Given the description of an element on the screen output the (x, y) to click on. 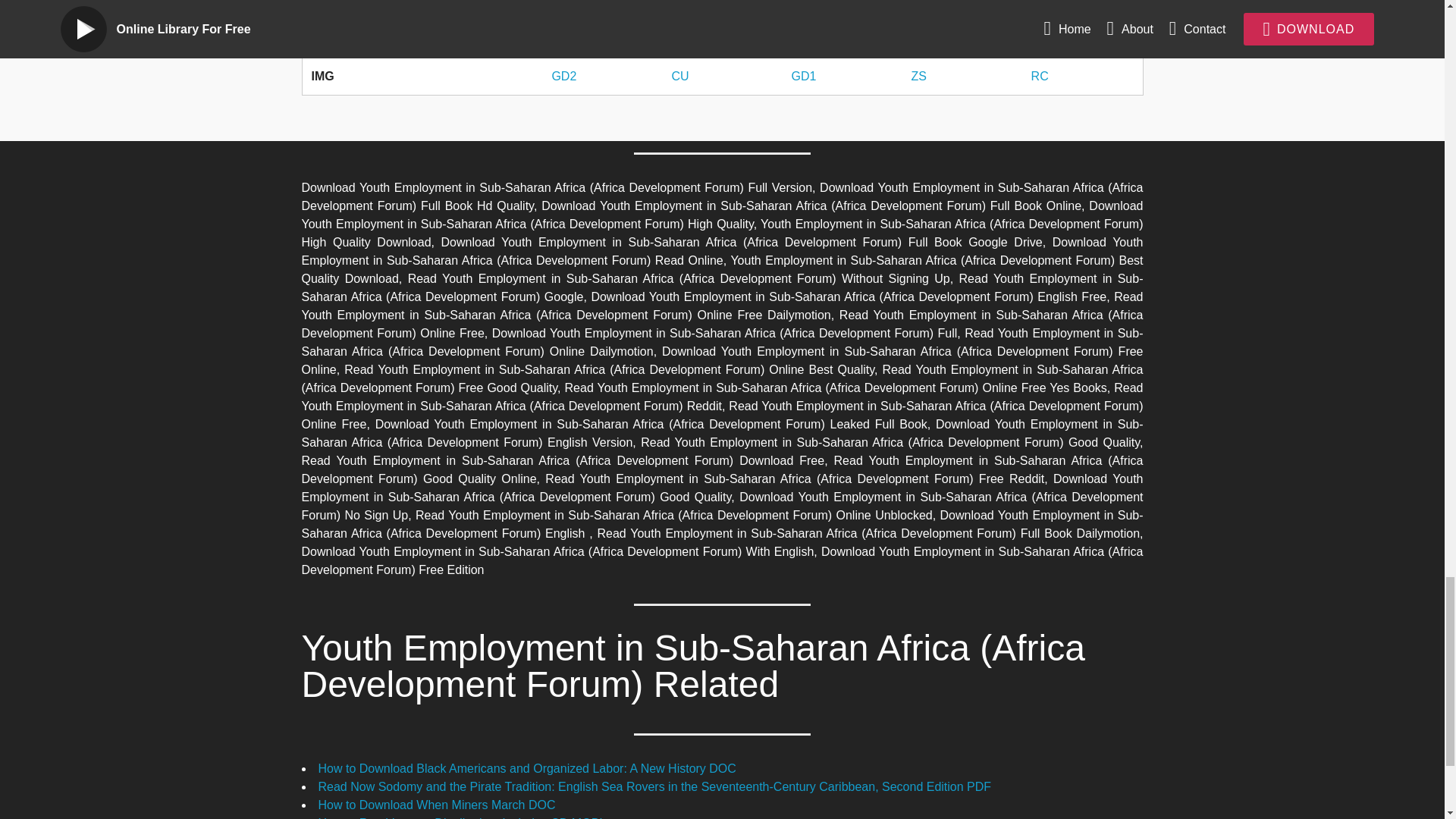
GD1 (802, 4)
CU (679, 4)
GD2 (563, 4)
